Given the description of an element on the screen output the (x, y) to click on. 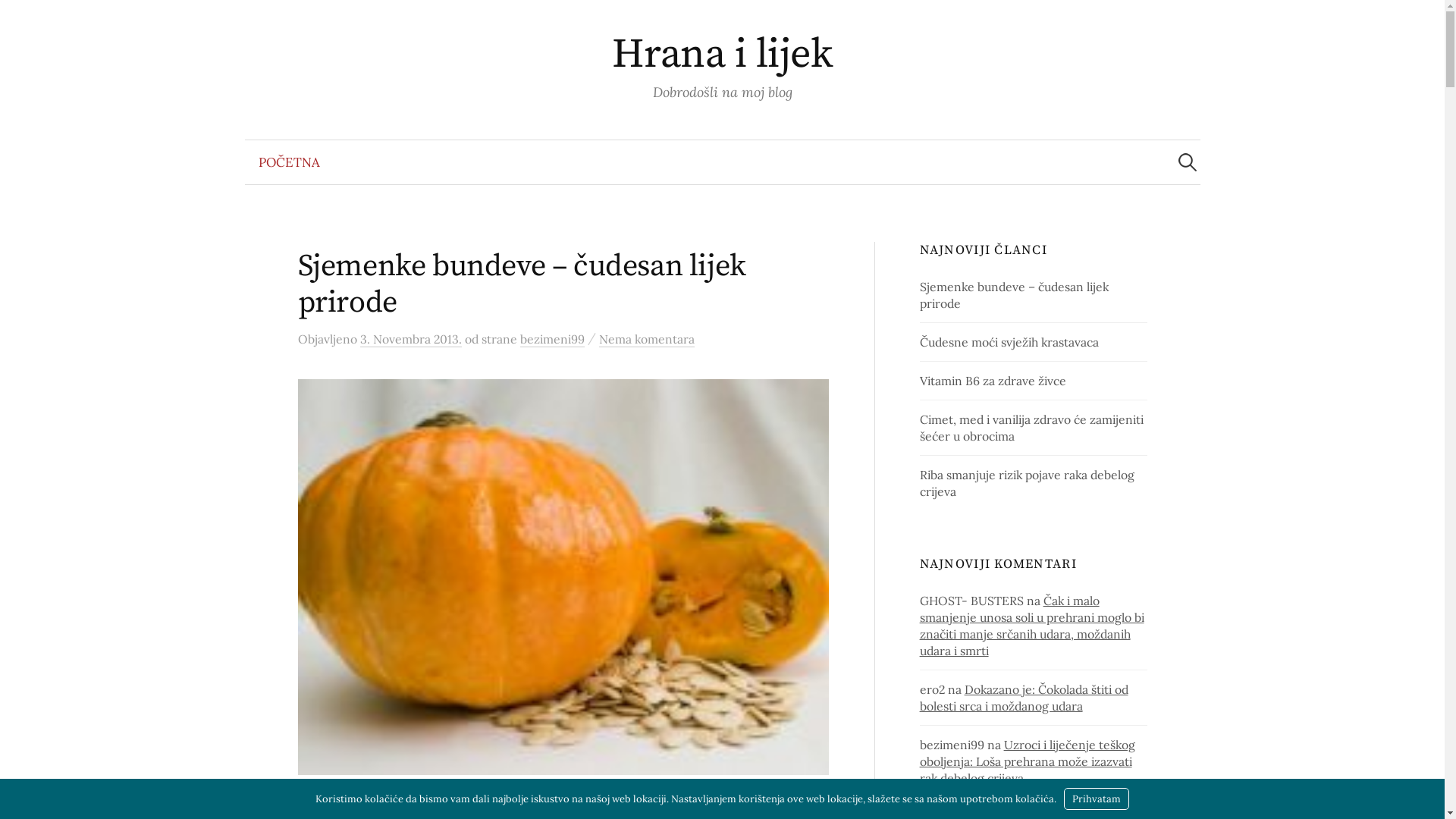
Hrana i lijek Element type: text (721, 54)
Prihvatam Element type: text (1096, 798)
Riba smanjuje rizik pojave raka debelog crijeva Element type: text (1026, 482)
3. Novembra 2013. Element type: text (410, 339)
Pretraga Element type: text (18, 18)
bezimeni99 Element type: text (552, 339)
